Given the description of an element on the screen output the (x, y) to click on. 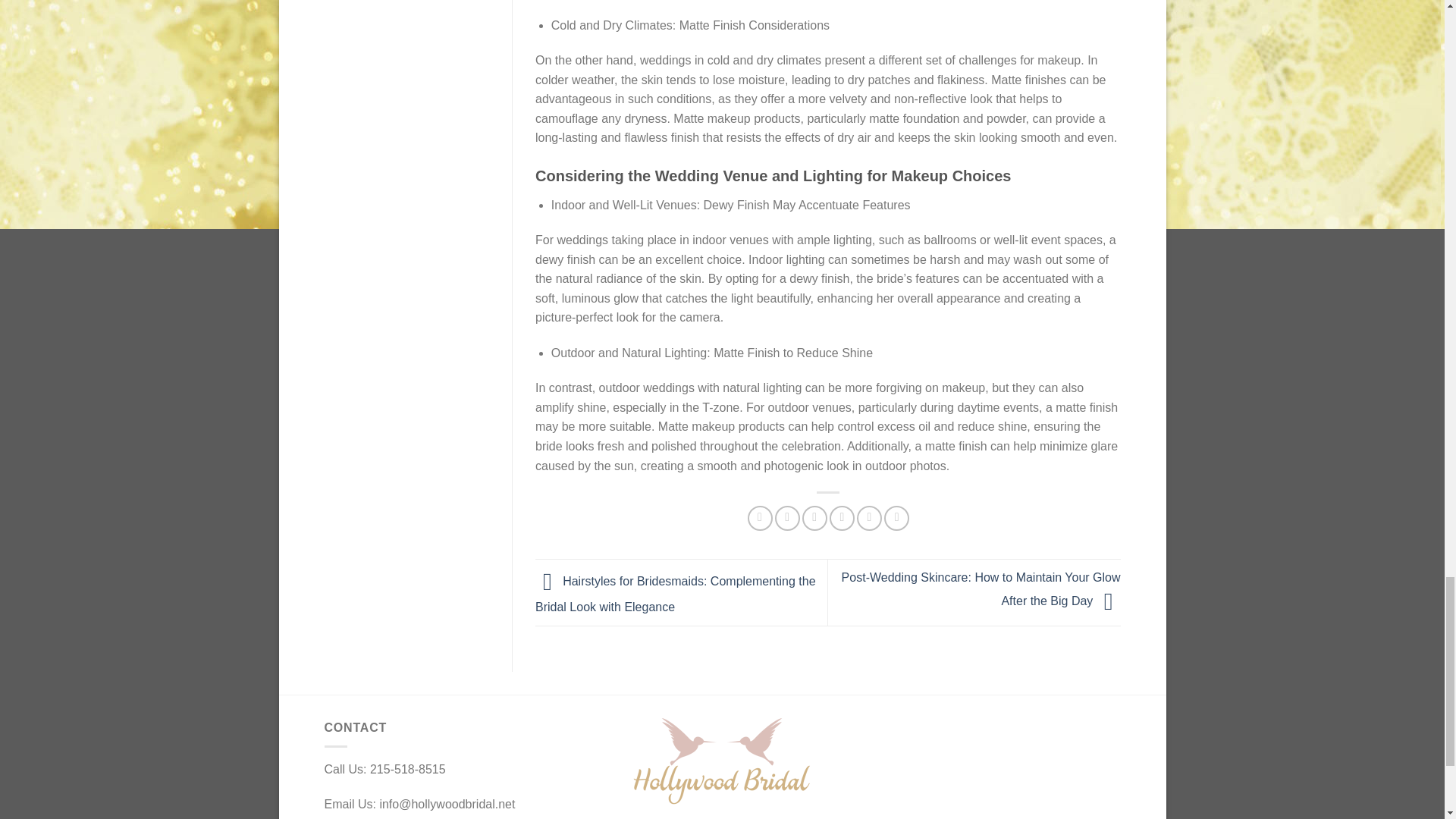
Pin on Pinterest (841, 518)
Share on Facebook (760, 518)
Email to a Friend (814, 518)
Share on Twitter (786, 518)
